Given the description of an element on the screen output the (x, y) to click on. 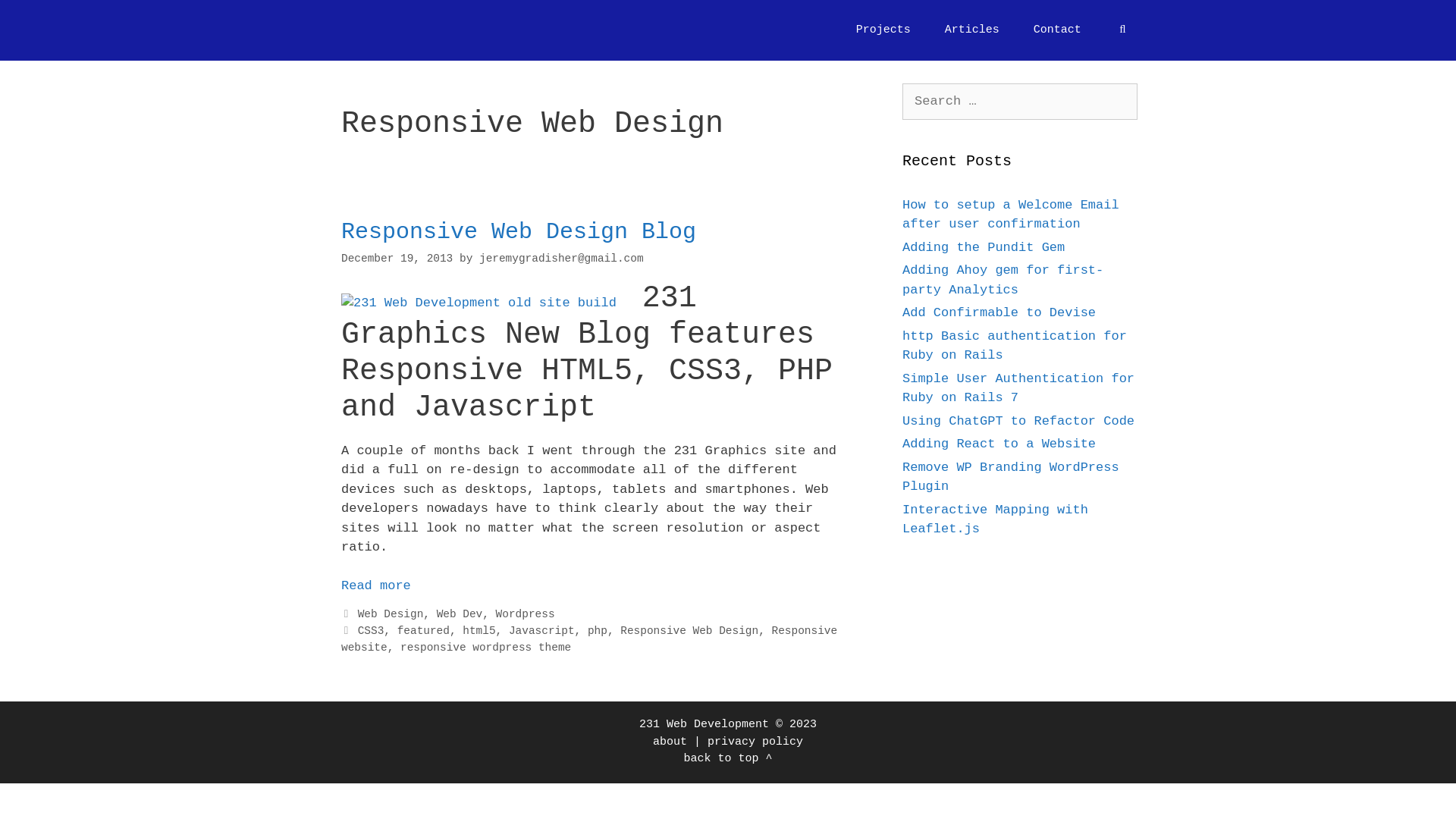
Read more Element type: text (376, 585)
Simple User Authentication for Ruby on Rails 7 Element type: text (1018, 388)
html5 Element type: text (478, 630)
responsive wordpress theme Element type: text (485, 647)
privacy policy Element type: text (755, 741)
Adding Ahoy gem for first-party Analytics Element type: text (1002, 280)
jeremygradisher@gmail.com Element type: text (561, 258)
CSS3 Element type: text (370, 630)
Add Confirmable to Devise Element type: text (998, 312)
Responsive website Element type: text (589, 638)
Search for: Element type: hover (1019, 101)
Web Dev Element type: text (459, 614)
about Element type: text (669, 741)
Interactive Mapping with Leaflet.js Element type: text (995, 519)
231WebDev Element type: hover (381, 30)
back to top ^ Element type: text (727, 758)
featured Element type: text (423, 630)
Responsive Web Design Element type: text (689, 630)
231WebDev Element type: hover (377, 30)
Articles Element type: text (971, 30)
How to setup a Welcome Email after user confirmation Element type: text (1010, 214)
Wordpress Element type: text (525, 614)
Web Design Element type: text (390, 614)
Adding the Pundit Gem Element type: text (983, 246)
Remove WP Branding WordPress Plugin Element type: text (1010, 476)
Contact Element type: text (1057, 30)
http Basic authentication for Ruby on Rails Element type: text (1014, 346)
Search Element type: text (39, 18)
Adding React to a Website Element type: text (998, 443)
231 Web Development Element type: text (703, 724)
Javascript Element type: text (541, 630)
php Element type: text (597, 630)
Responsive Web Design Blog Element type: text (518, 231)
Projects Element type: text (882, 30)
Using ChatGPT to Refactor Code Element type: text (1018, 421)
